Given the description of an element on the screen output the (x, y) to click on. 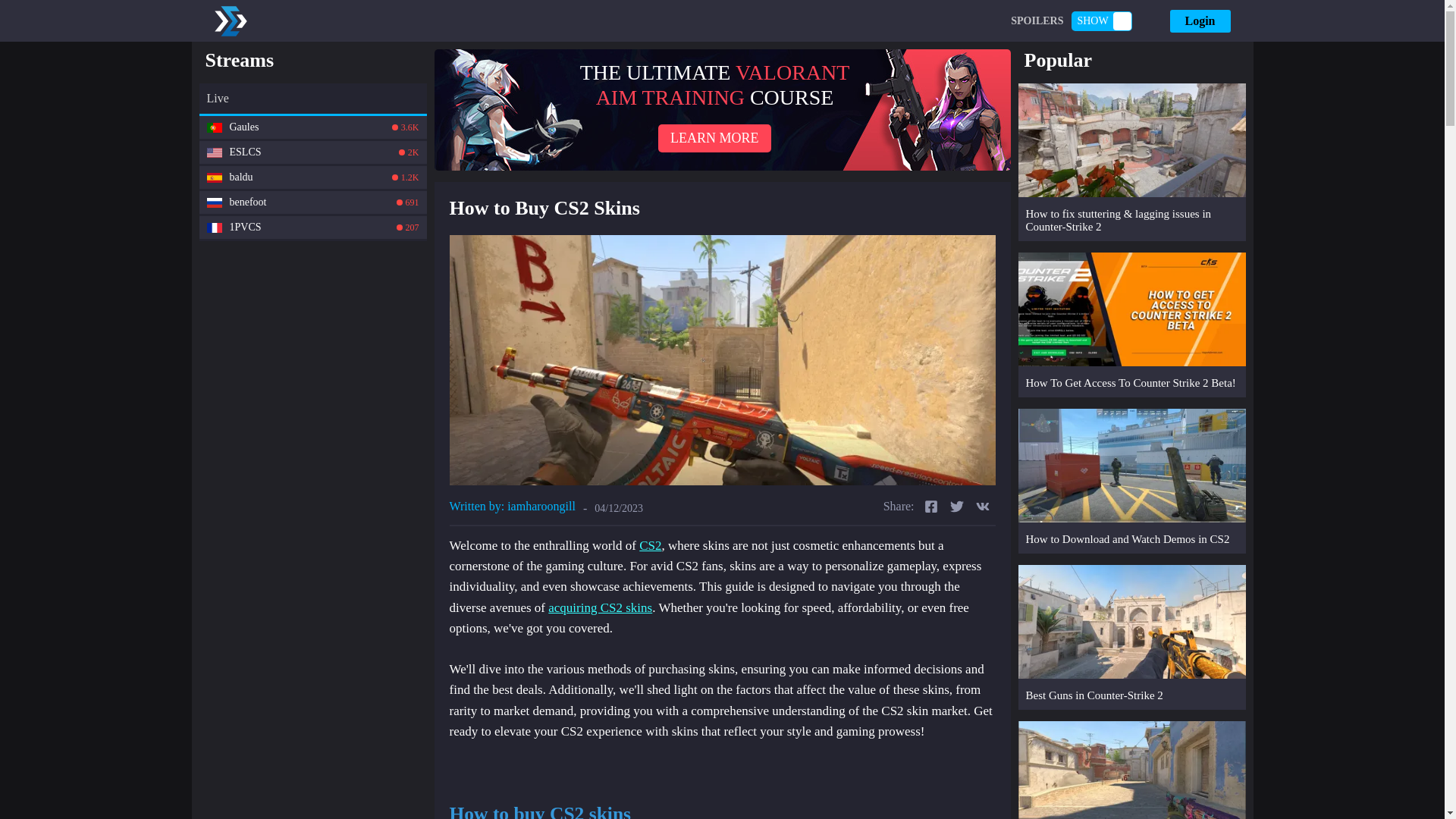
CS2 Competitive vs Premier: What Is the Difference? (721, 109)
United States of America (1130, 770)
How to Download and Watch Demos in CS2 (213, 152)
Spain (312, 151)
Best Guns in Counter-Strike 2 (312, 177)
France (1130, 480)
